Given the description of an element on the screen output the (x, y) to click on. 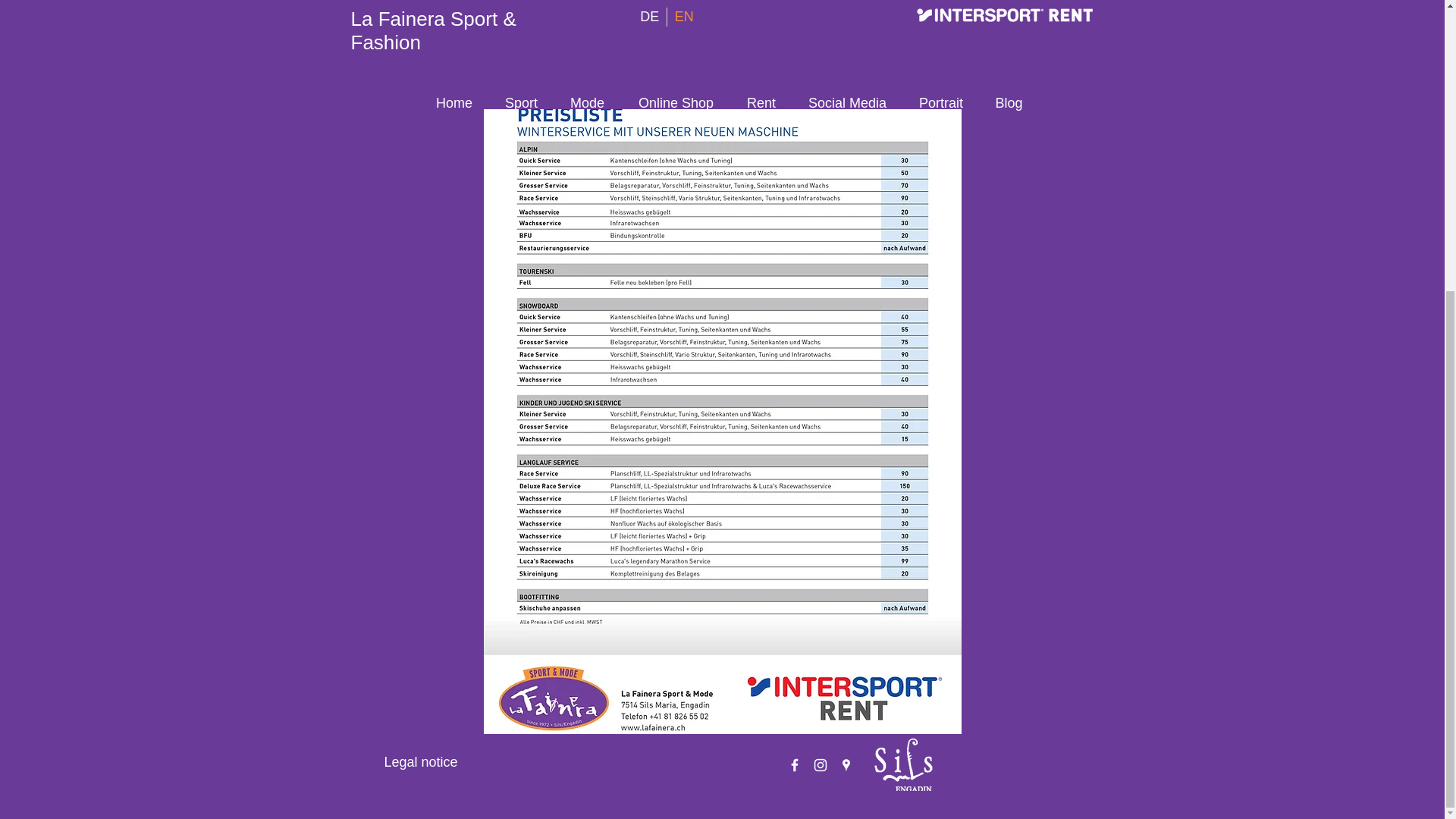
Legal notice (420, 761)
